Given the description of an element on the screen output the (x, y) to click on. 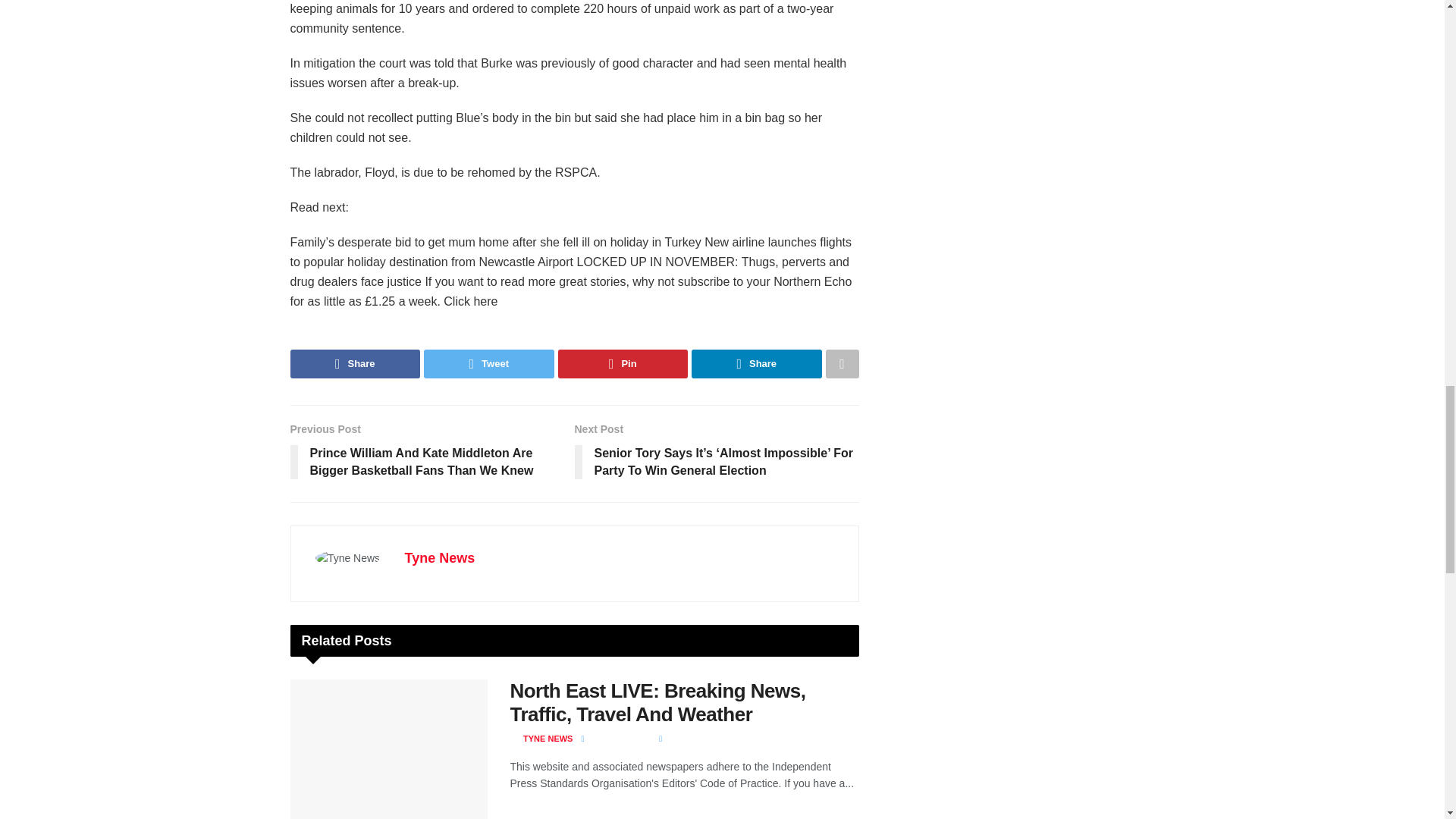
Tweet (488, 363)
Share (354, 363)
